Given the description of an element on the screen output the (x, y) to click on. 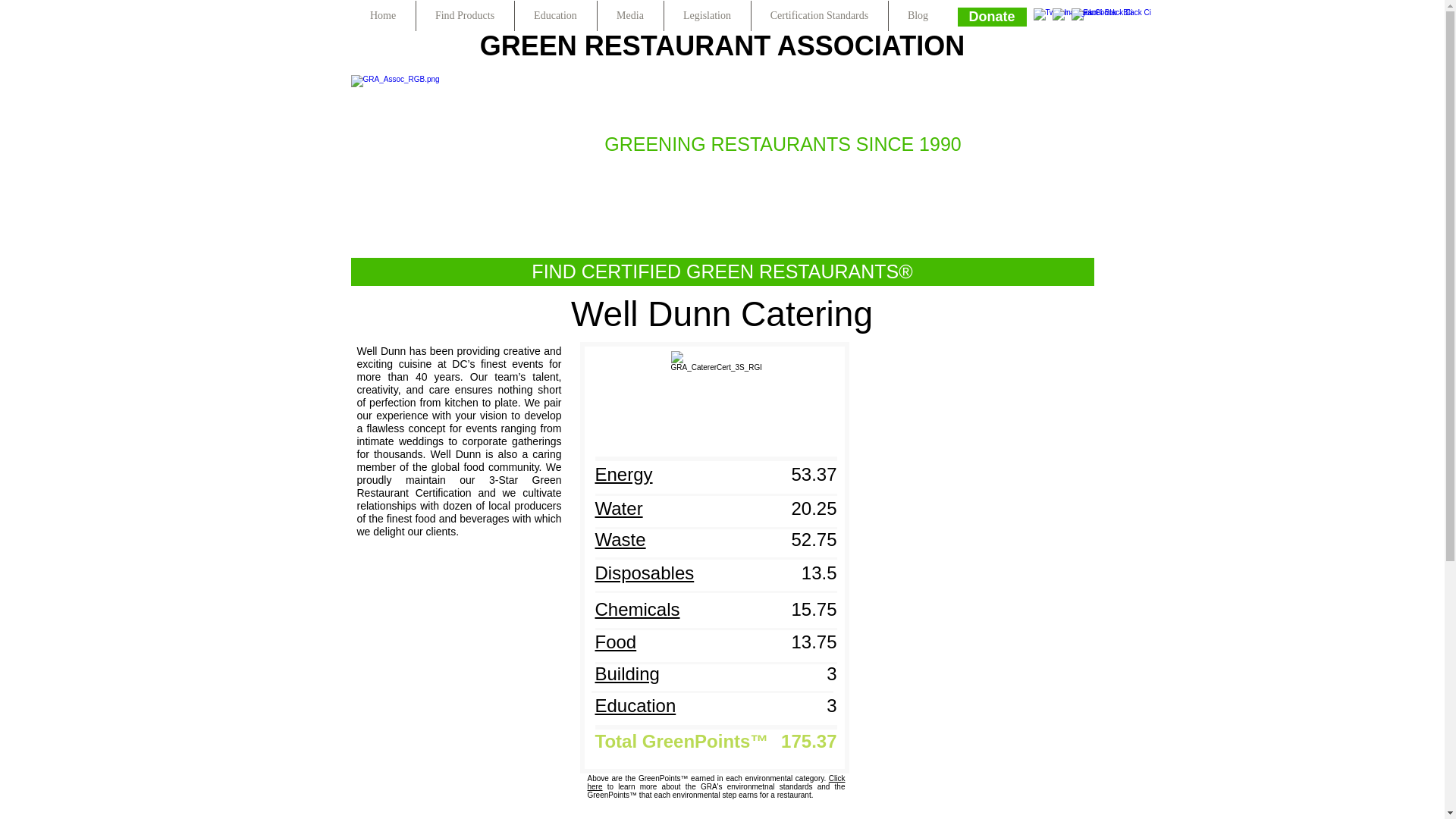
Education (554, 15)
Water (618, 508)
Disposables (644, 573)
Certification Standards (818, 15)
Food (615, 641)
Find Products (463, 15)
Waste (619, 539)
Building (626, 673)
Blog (917, 15)
Education (634, 705)
